Given the description of an element on the screen output the (x, y) to click on. 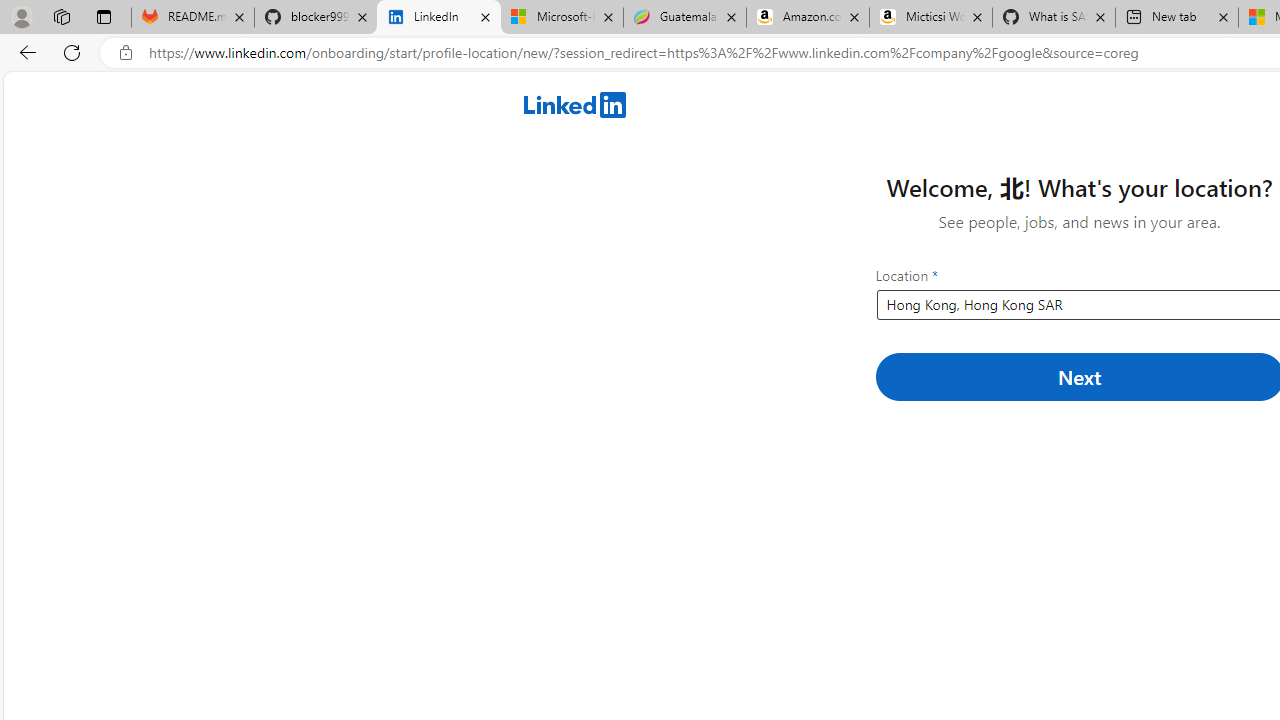
LinkedIn (438, 17)
